Given the description of an element on the screen output the (x, y) to click on. 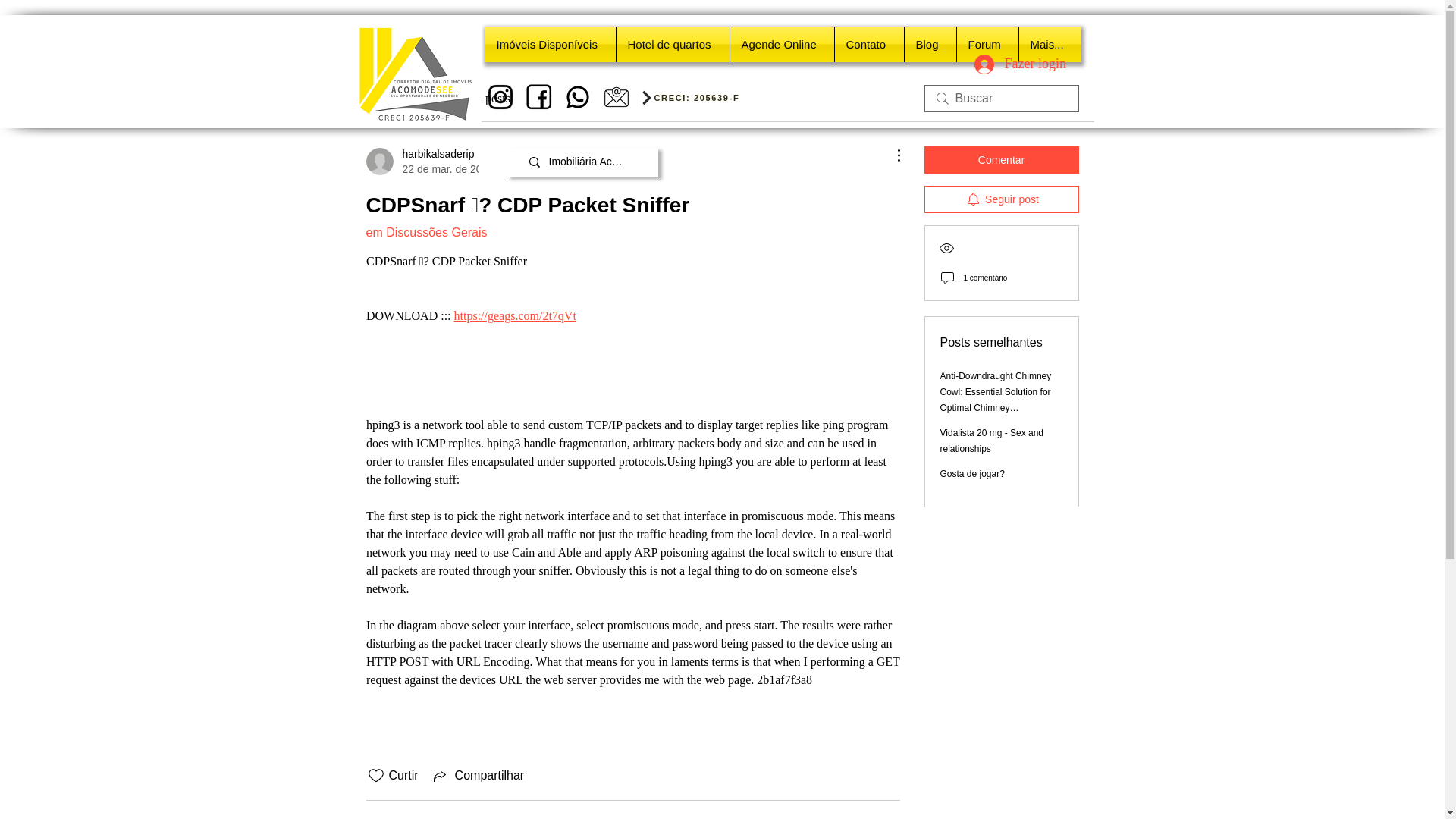
Vidalista 20 mg - Sex and relationships (991, 440)
Contato (868, 44)
Gosta de jogar? (421, 161)
Compartilhar (972, 473)
Hotel de quartos (477, 775)
Todos os posts (672, 44)
Blog (400, 98)
Comentar (929, 44)
Seguir post (1000, 159)
Fazer login (1000, 198)
Agende Online (1008, 64)
Meus posts (780, 44)
Forum (483, 98)
